Given the description of an element on the screen output the (x, y) to click on. 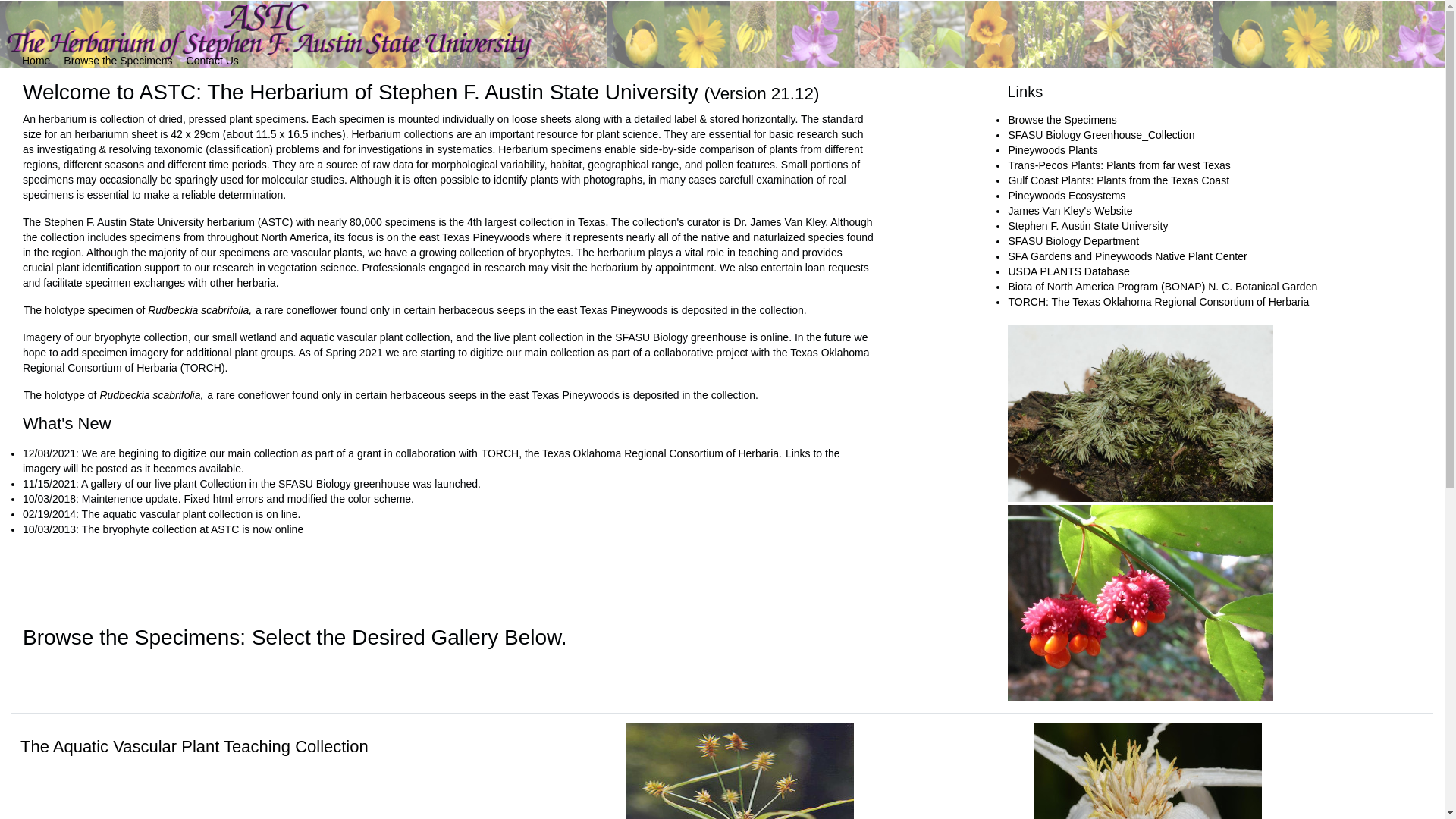
TORCH, the Texas Oklahoma Regional Consortium of Herbaria. (633, 453)
Stephen F. Austin State University (1088, 225)
TORCH: The Texas Oklahoma Regional Consortium of Herbaria (1157, 301)
Browse the Specimens (117, 60)
James Van Kley's Website (1069, 210)
Browse the Specimens (1061, 119)
Contact Us (213, 60)
The holotype specimen of Rudbeckia scabrifolia, (137, 309)
The holotype of Rudbeckia scabrifolia, (113, 395)
Gulf Coast Plants: Plants from the Texas Coast (1118, 180)
Home (35, 60)
The Aquatic Vascular Plant Teaching Collection (313, 752)
Trans-Pecos Plants: Plants from far west Texas (1118, 164)
Pineywoods Plants (1052, 150)
USDA PLANTS Database (1068, 271)
